Given the description of an element on the screen output the (x, y) to click on. 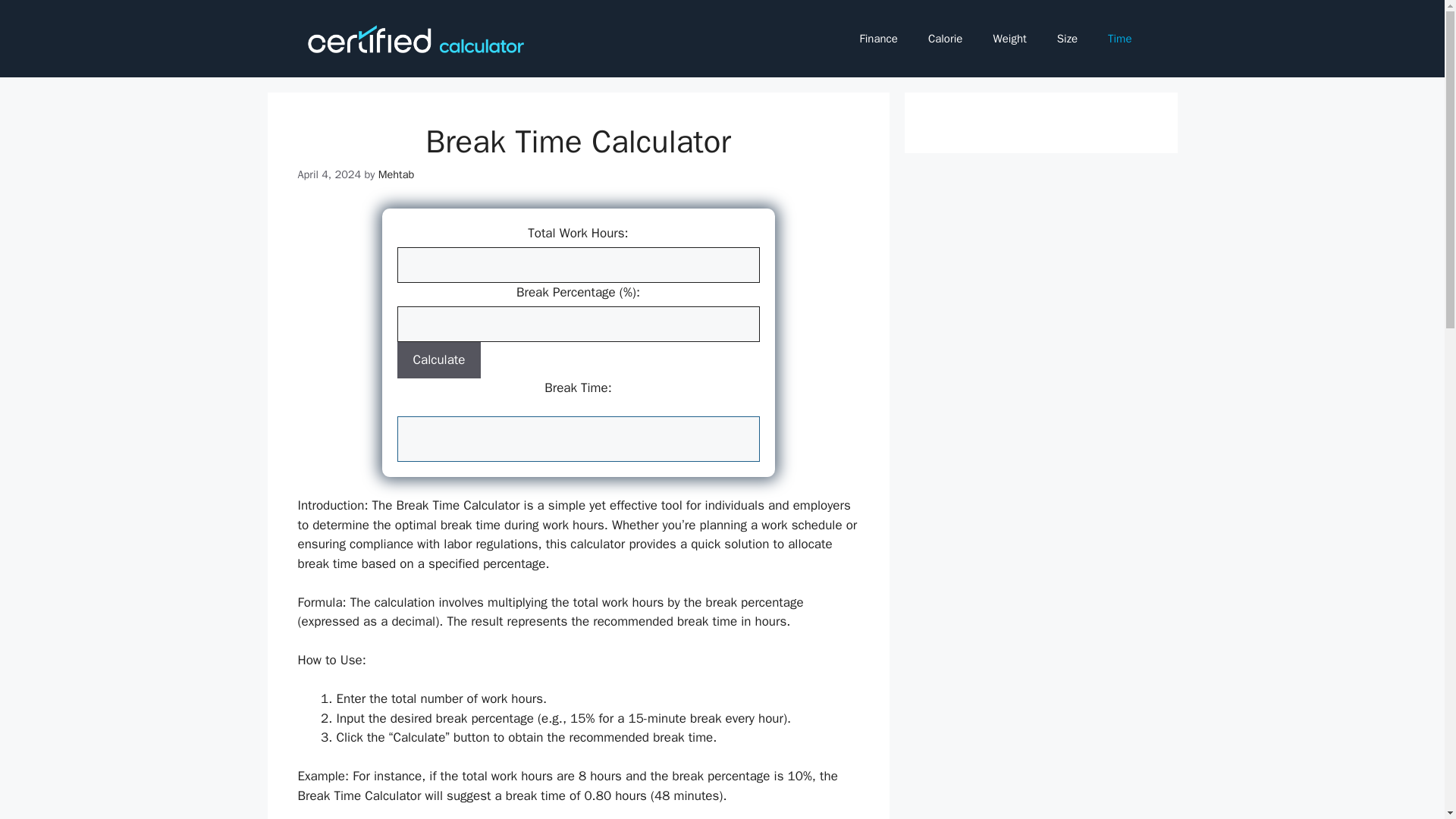
Size (1067, 38)
Calculate (439, 360)
Time (1120, 38)
View all posts by Mehtab (396, 173)
Calorie (945, 38)
Mehtab (396, 173)
Weight (1008, 38)
Finance (878, 38)
